Given the description of an element on the screen output the (x, y) to click on. 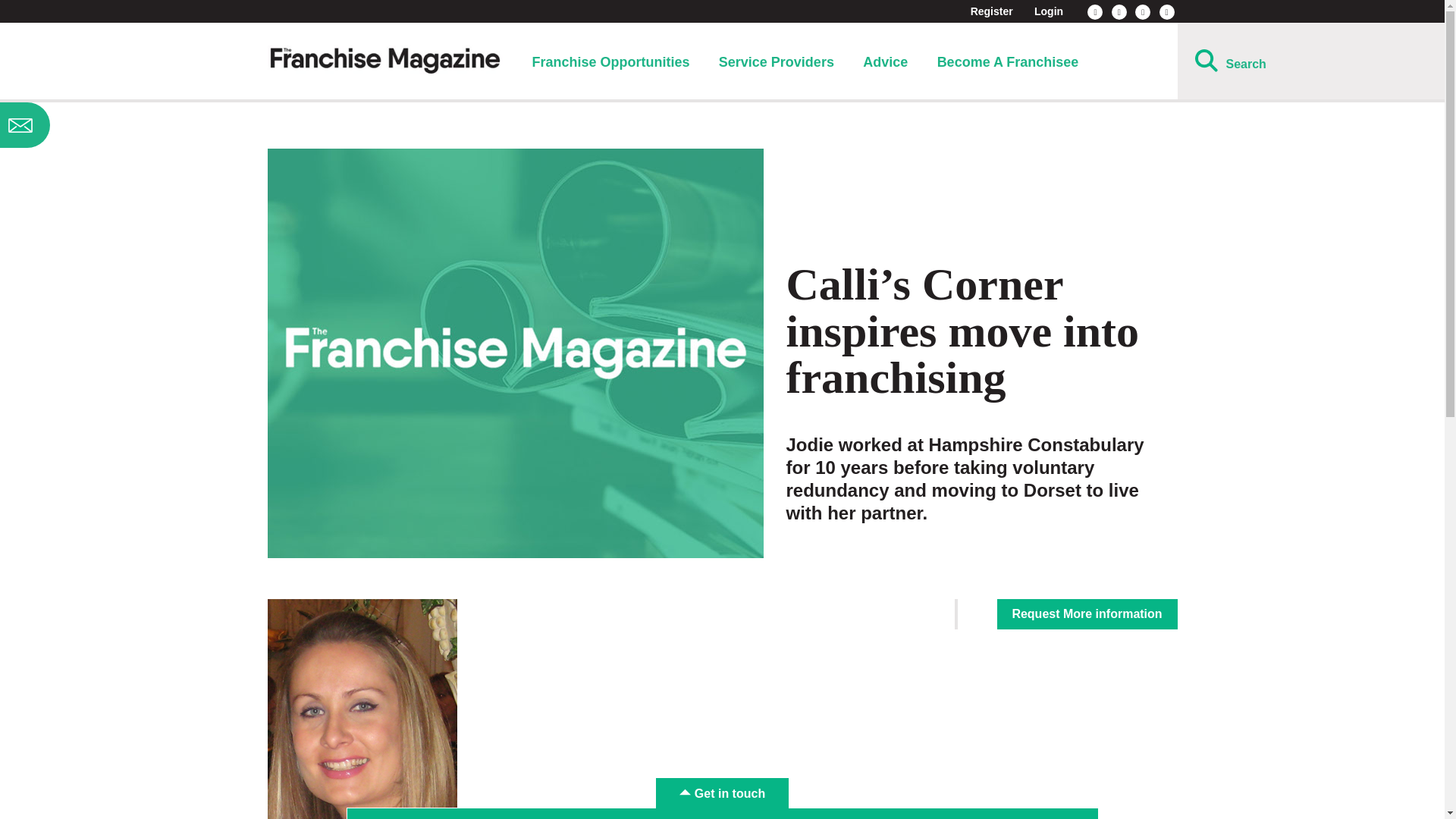
Service Providers (776, 61)
Sign up to the newsletter (120, 125)
Login (1047, 10)
Register (992, 10)
SignupModal (120, 125)
Service Providers (776, 61)
Login (1047, 10)
Become A Franchisee (1007, 61)
Franchise Opportunities (609, 61)
Advice (885, 61)
